Given the description of an element on the screen output the (x, y) to click on. 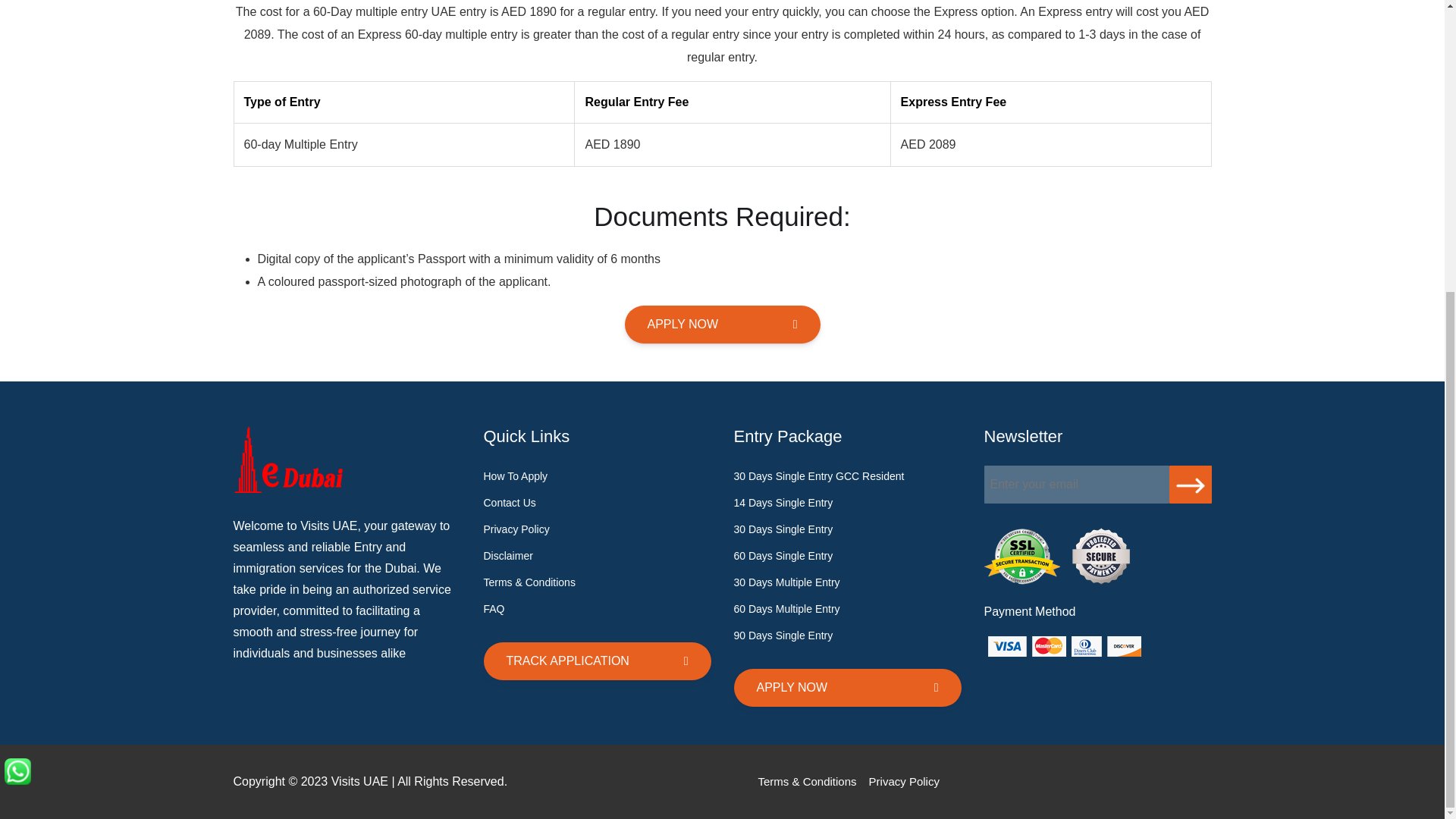
TRACK APPLICATION (597, 661)
30 Days Single Entry (782, 529)
How To Apply (515, 476)
30 Days Multiple Entry (786, 582)
FAQ (494, 608)
60 Days Single Entry (782, 555)
Disclaimer (507, 555)
Privacy Policy (904, 780)
APPLY NOW (722, 324)
90 Days Single Entry (782, 635)
